Given the description of an element on the screen output the (x, y) to click on. 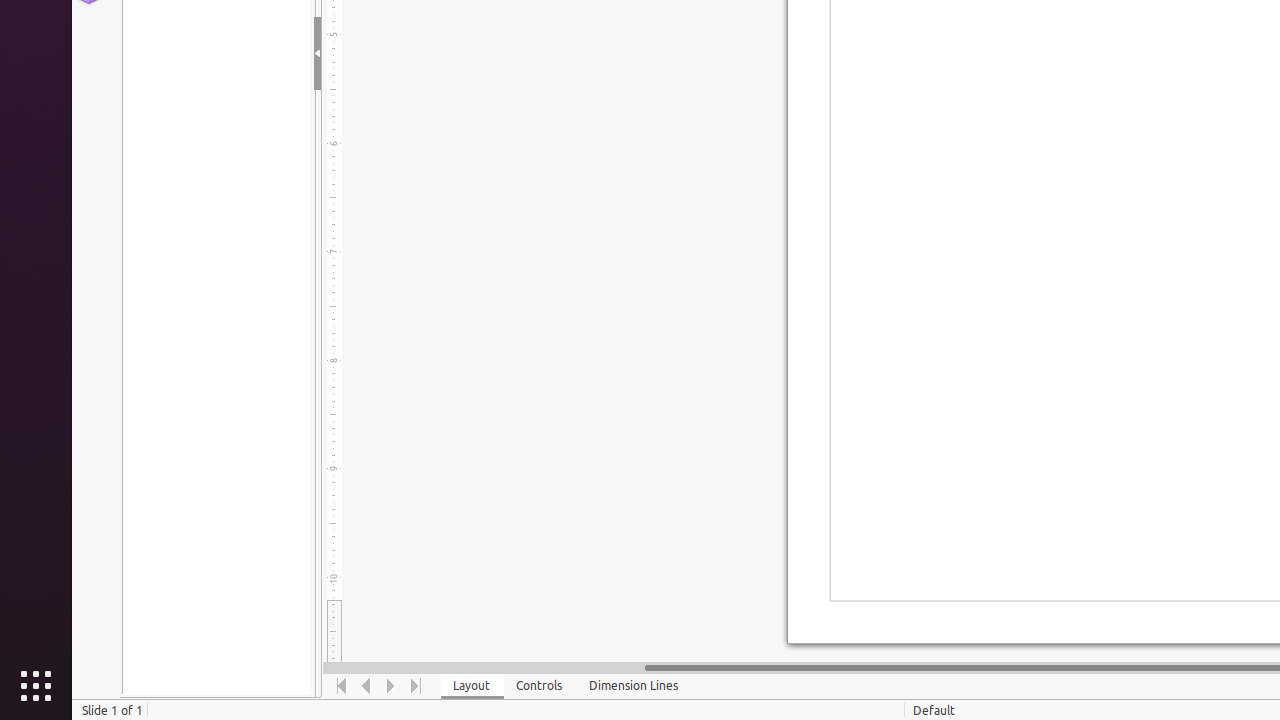
Controls Element type: page-tab (540, 686)
Move Right Element type: push-button (391, 686)
Move Left Element type: push-button (366, 686)
